Given the description of an element on the screen output the (x, y) to click on. 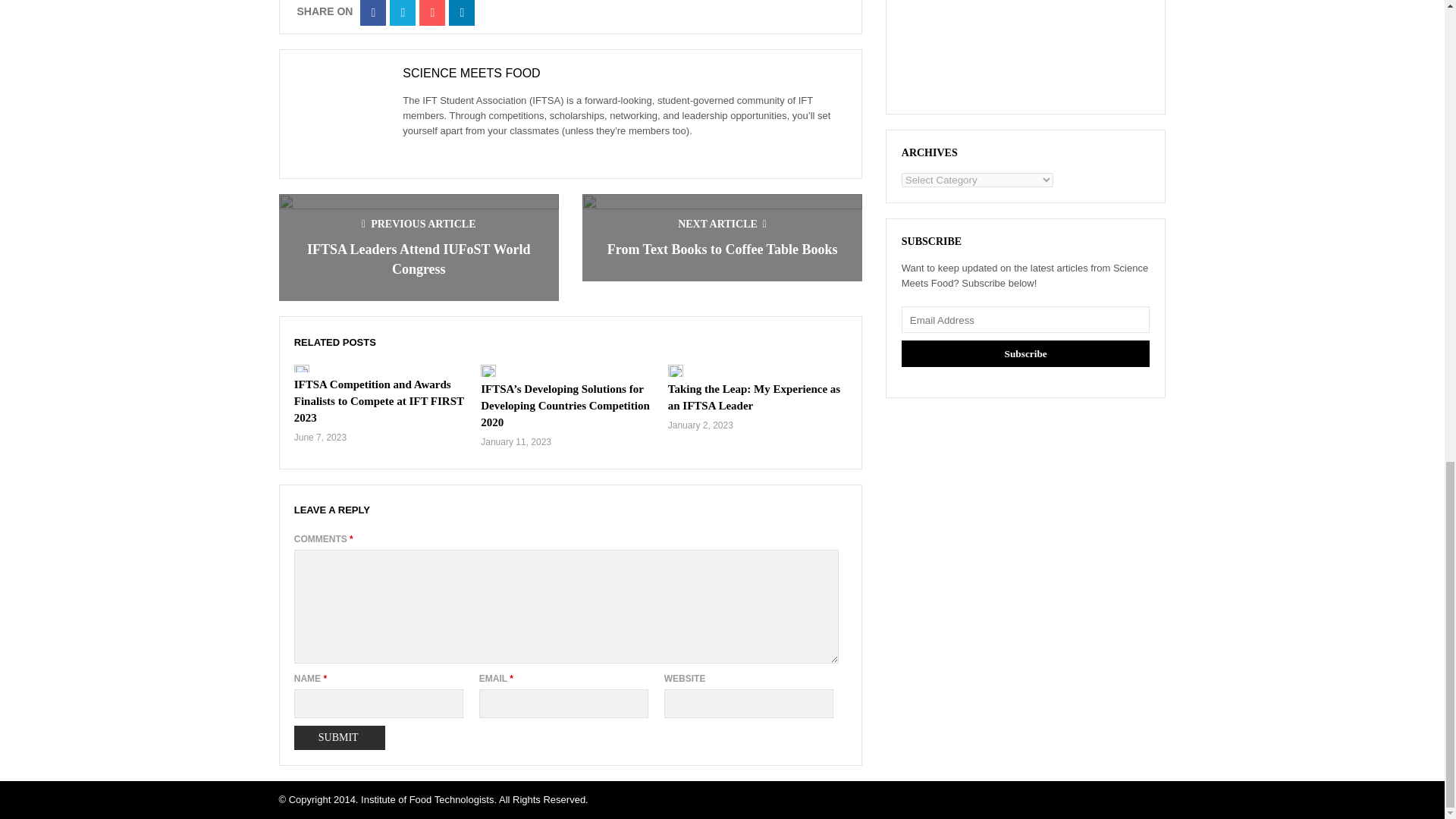
From Text Books to Coffee Table Books (722, 249)
IFTSA Leaders Attend IUFoST World Congress (418, 258)
Submit  (339, 737)
Taking the Leap: My Experience as an IFTSA Leader (754, 397)
Taking the Leap: My Experience as an IFTSA Leader (754, 397)
Submit  (339, 737)
Subscribe (1025, 353)
